Given the description of an element on the screen output the (x, y) to click on. 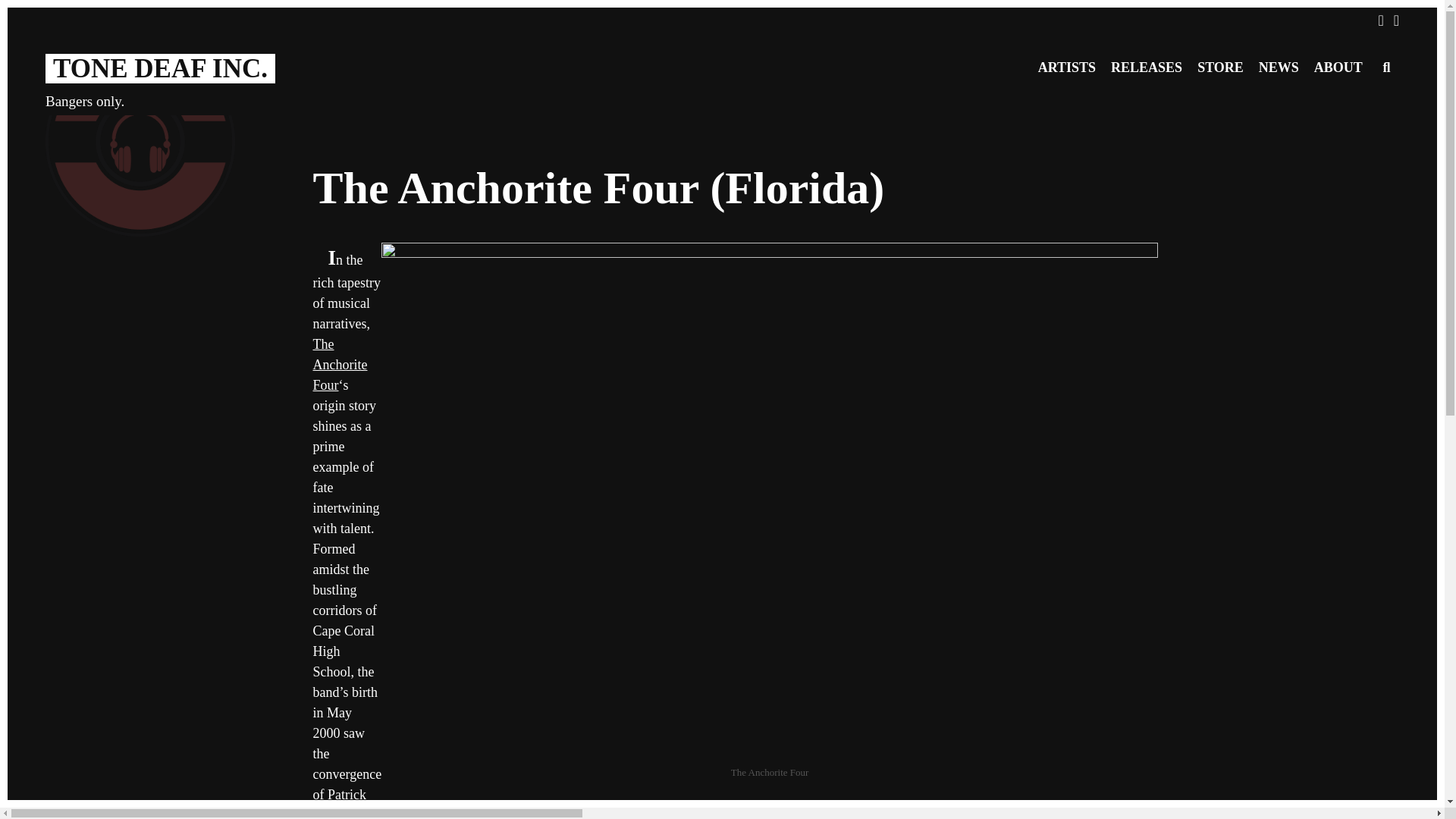
ABOUT (1338, 67)
TONE DEAF INC. (160, 68)
The Anchorite Four (339, 364)
RELEASES (1146, 67)
ARTISTS (1066, 67)
Search (186, 20)
NEWS (1278, 67)
STORE (1219, 67)
